Given the description of an element on the screen output the (x, y) to click on. 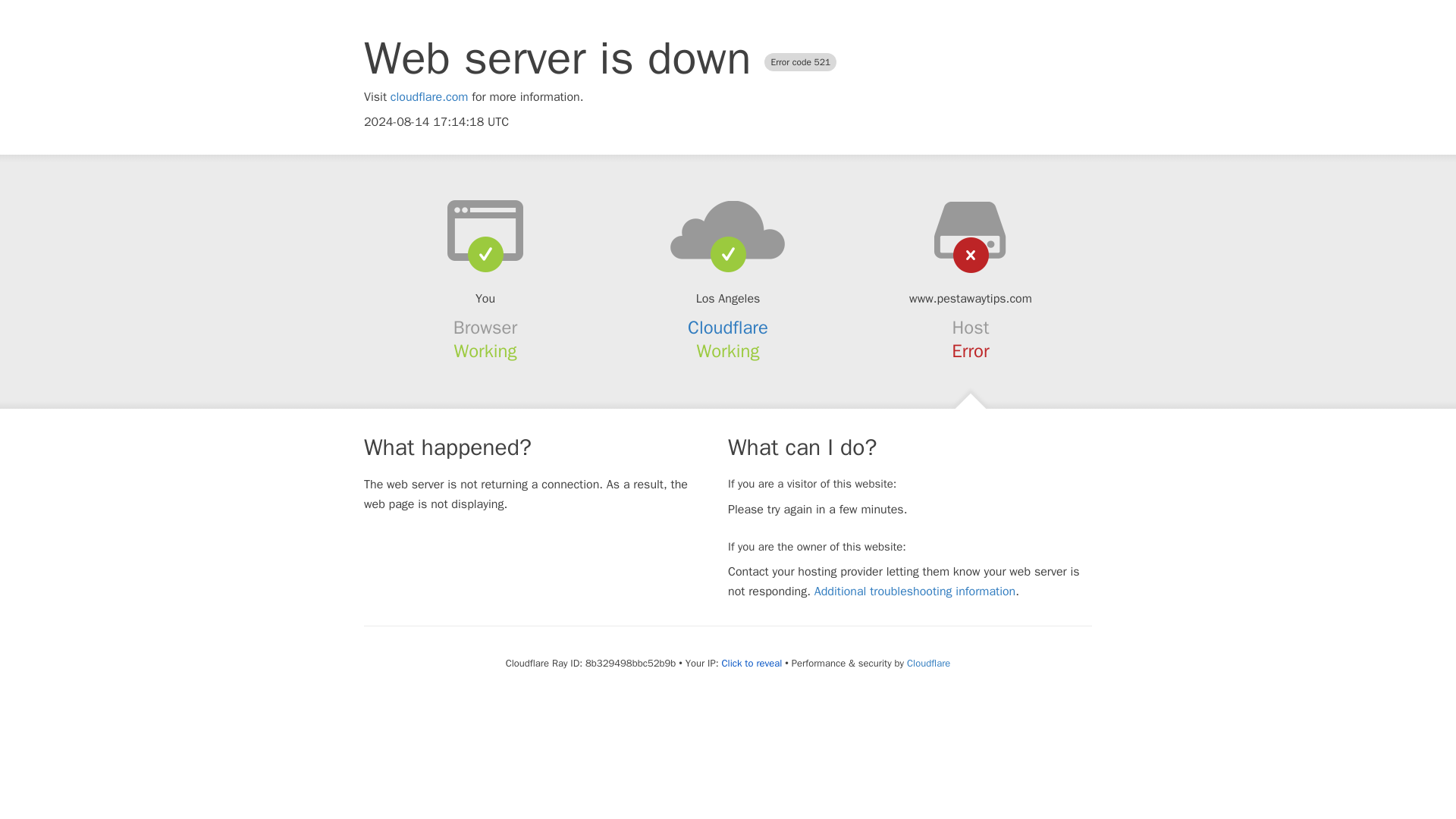
Click to reveal (750, 663)
cloudflare.com (429, 96)
Cloudflare (727, 327)
Cloudflare (928, 662)
Additional troubleshooting information (913, 590)
